Given the description of an element on the screen output the (x, y) to click on. 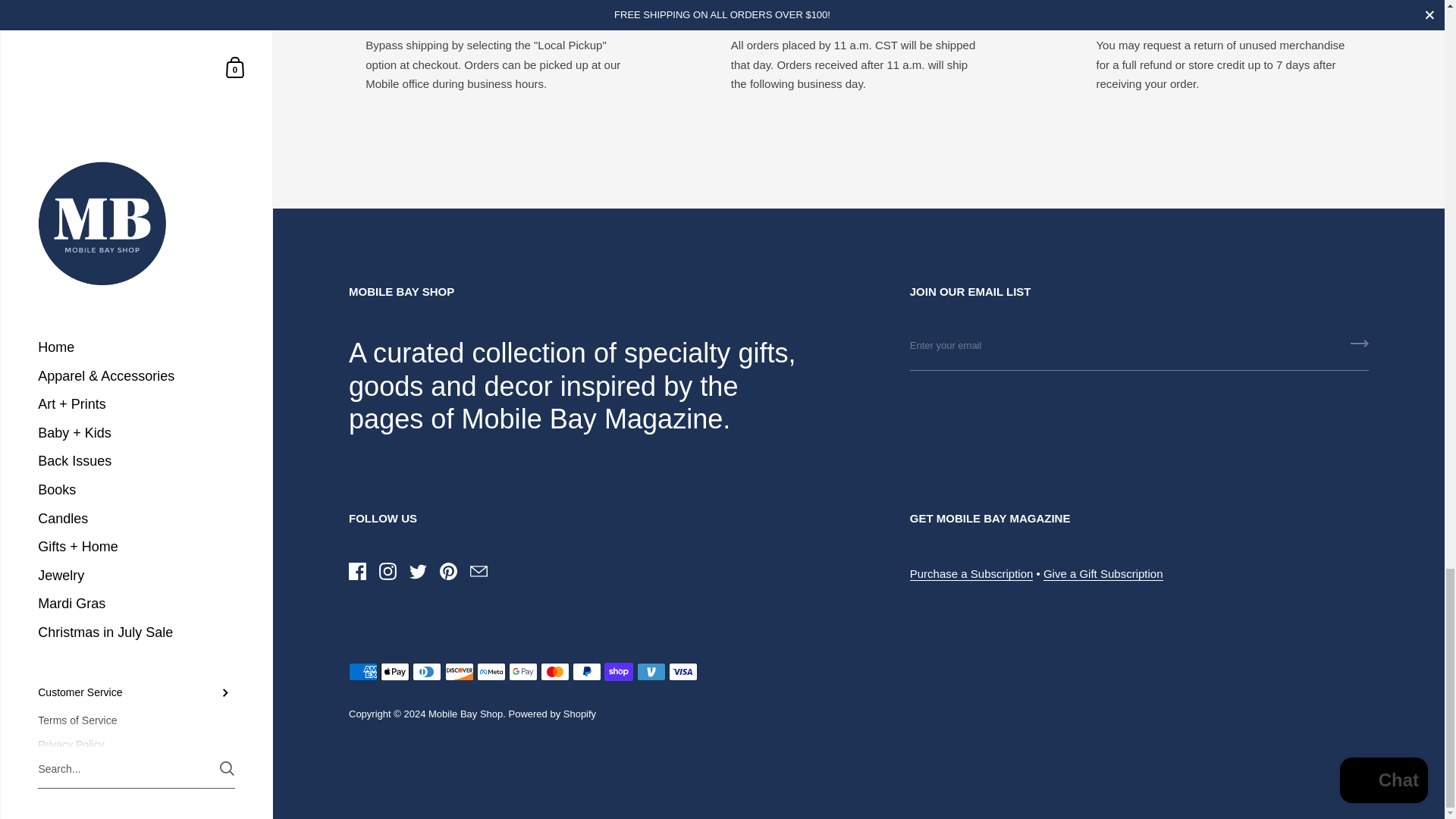
American Express (363, 671)
Mastercard (554, 671)
Apple Pay (394, 671)
Diners Club (426, 671)
Discover (459, 671)
Start a Subscription (971, 573)
Google Pay (522, 671)
Give a Gift Subscription (1103, 573)
Meta Pay (491, 671)
